Given the description of an element on the screen output the (x, y) to click on. 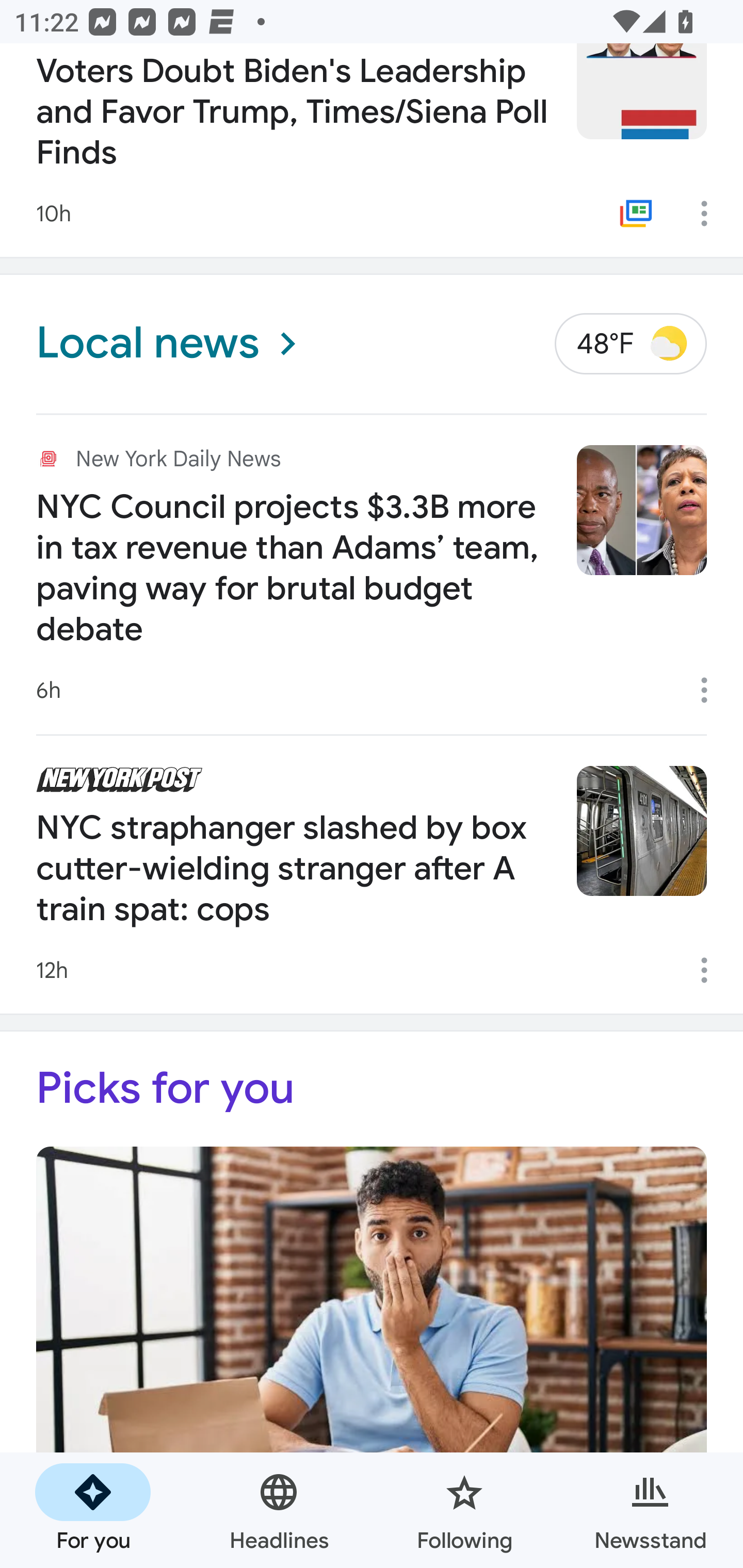
More options (711, 213)
More options (711, 689)
More options (711, 969)
YourTango (371, 1357)
For you (92, 1509)
Headlines (278, 1509)
Following (464, 1509)
Newsstand (650, 1509)
